Given the description of an element on the screen output the (x, y) to click on. 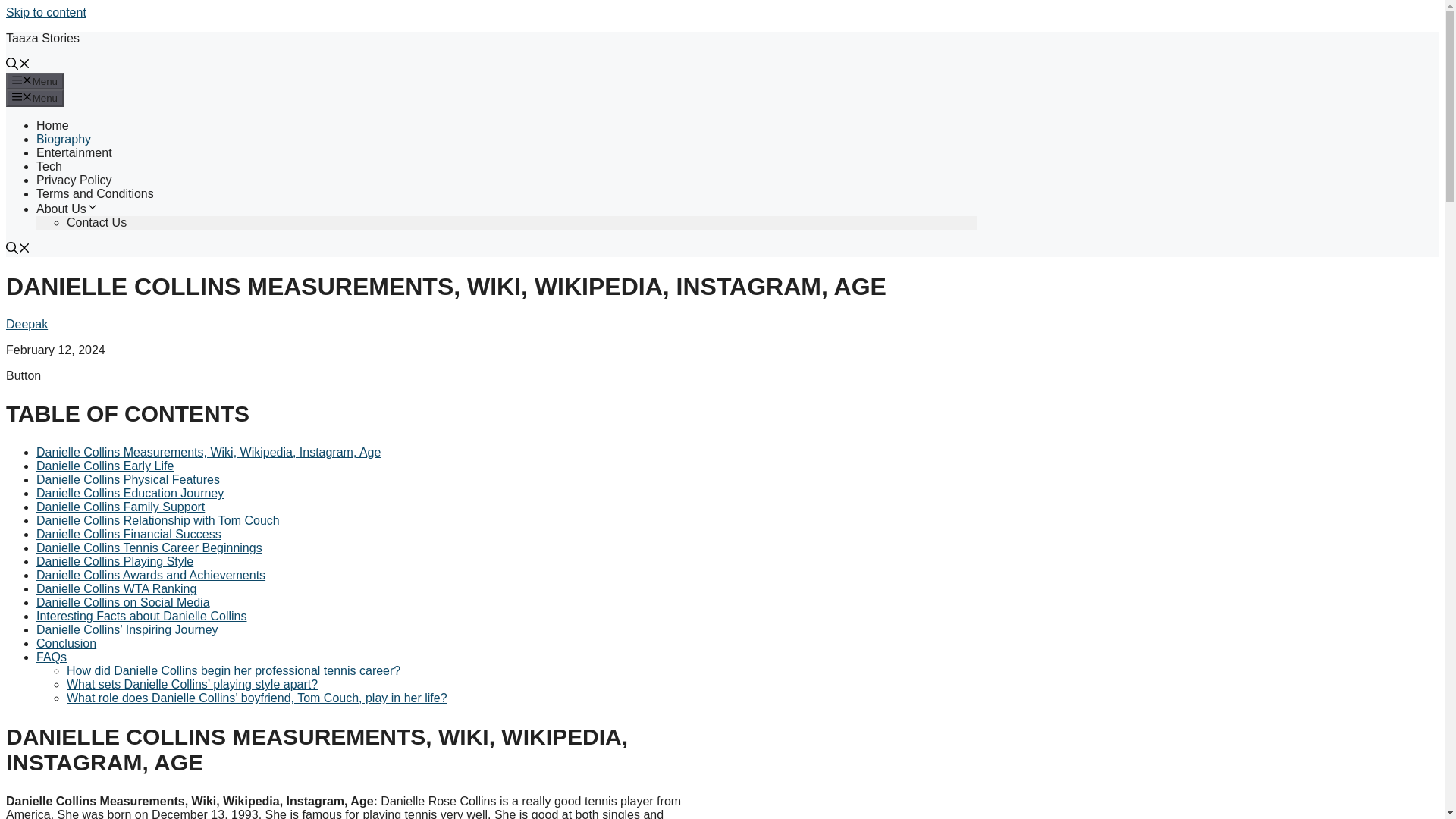
FAQs (51, 656)
Danielle Collins Relationship with Tom Couch (157, 520)
Conclusion (66, 643)
Danielle Collins Tennis Career Beginnings (149, 547)
Danielle Collins Awards and Achievements (150, 574)
Tech (49, 165)
Terms and Conditions (95, 193)
Contact Us (96, 222)
Skip to content (45, 11)
